Given the description of an element on the screen output the (x, y) to click on. 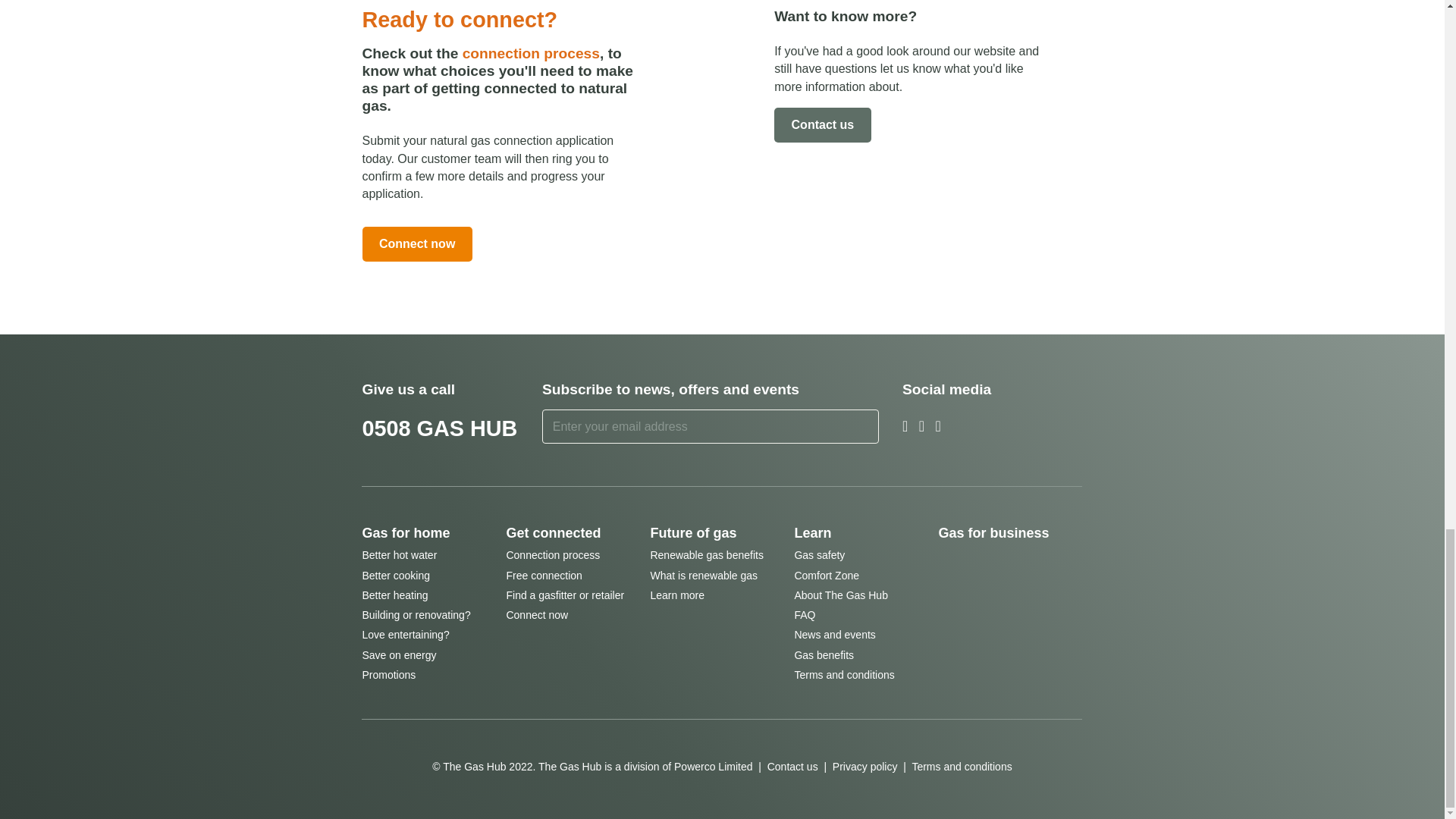
connection process (531, 53)
Connect now (416, 243)
